Given the description of an element on the screen output the (x, y) to click on. 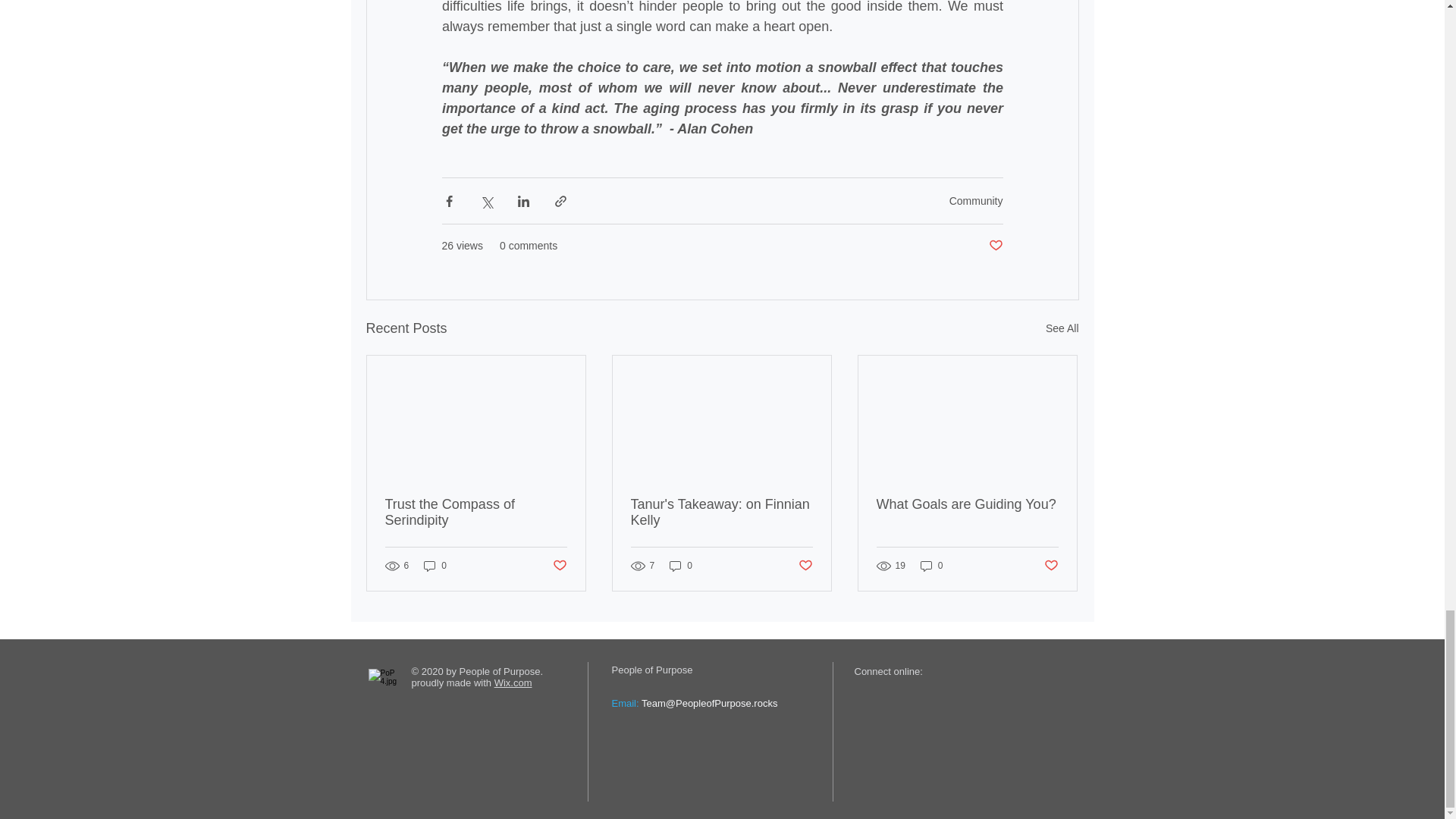
0 (681, 565)
What Goals are Guiding You? (967, 504)
Wix.com (513, 682)
Post not marked as liked (804, 565)
Tanur's Takeaway: on Finnian Kelly (721, 512)
Community (976, 200)
Post not marked as liked (995, 245)
0 (435, 565)
Trust the Compass of Serindipity (476, 512)
0 (931, 565)
Post not marked as liked (558, 565)
See All (1061, 328)
Post not marked as liked (1050, 565)
